Given the description of an element on the screen output the (x, y) to click on. 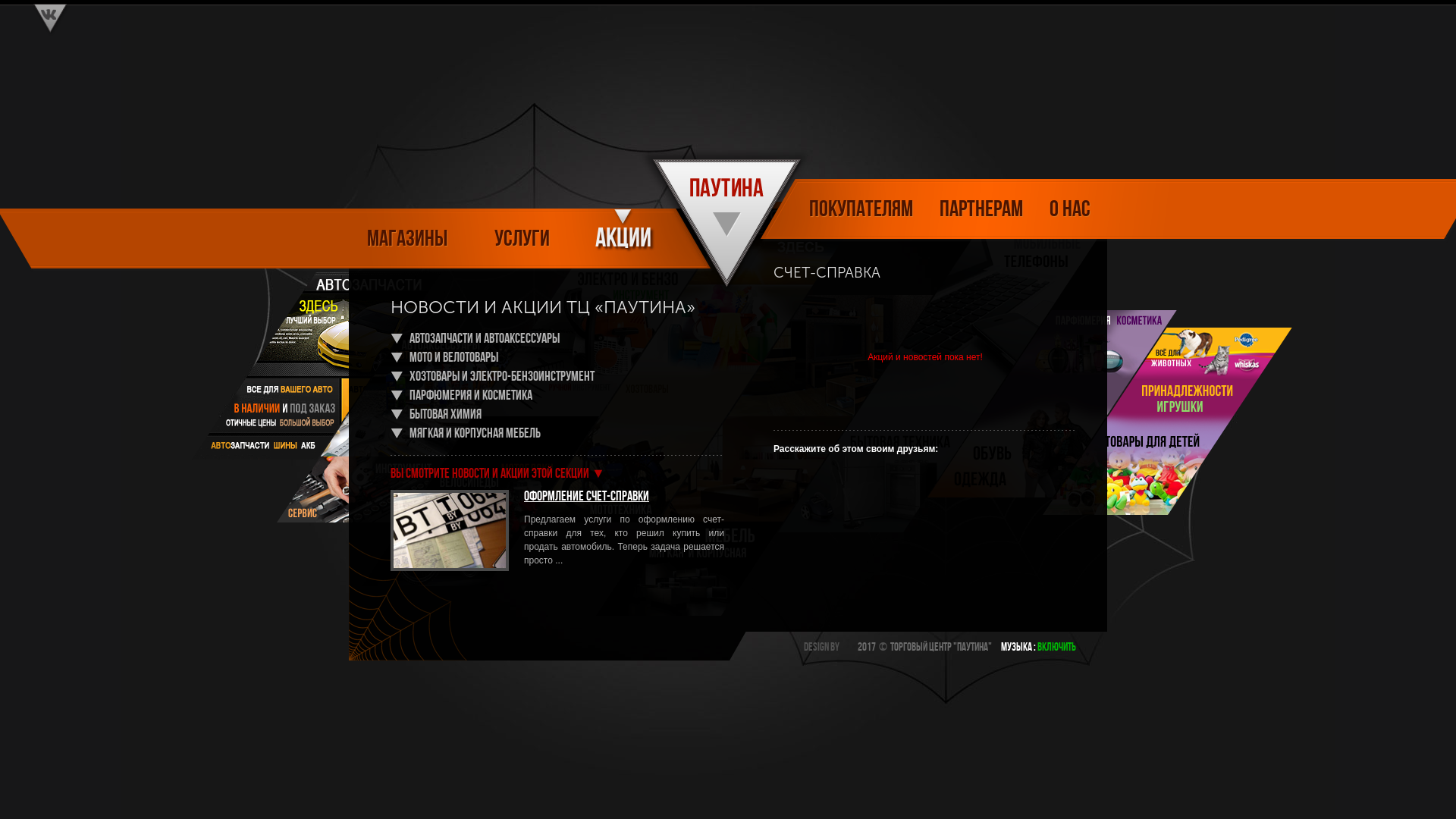
LiveInternet Element type: hover (850, 649)
Design by Element type: text (821, 647)
